Given the description of an element on the screen output the (x, y) to click on. 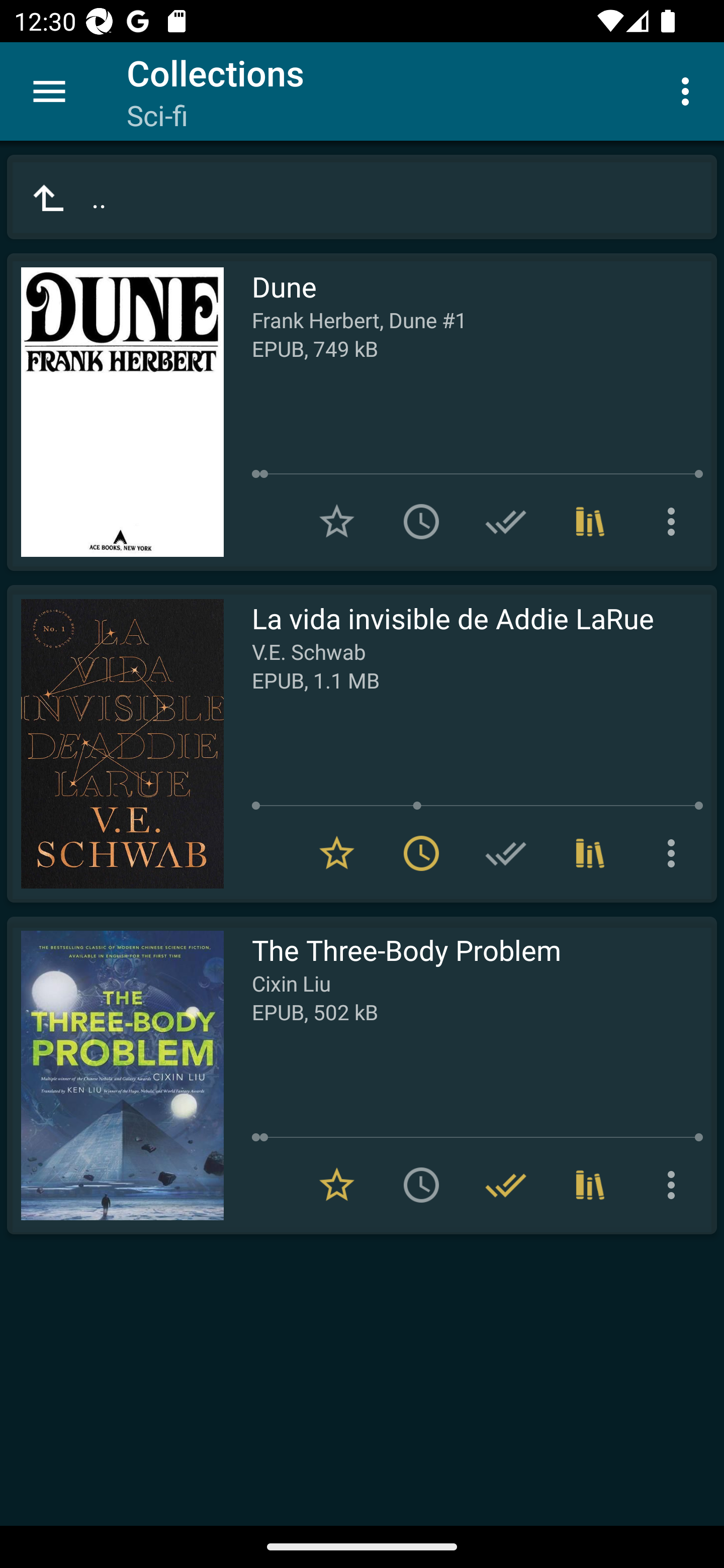
Menu (49, 91)
More options (688, 90)
.. (361, 197)
Read Dune (115, 412)
Add to Favorites (336, 521)
Add to To read (421, 521)
Add to Have read (505, 521)
Collections (1) (590, 521)
More options (674, 521)
Read La vida invisible de Addie LaRue (115, 743)
Remove from Favorites (336, 852)
Remove from To read (421, 852)
Add to Have read (505, 852)
Collections (1) (590, 852)
More options (674, 852)
Read The Three-Body Problem (115, 1075)
Remove from Favorites (336, 1185)
